Given the description of an element on the screen output the (x, y) to click on. 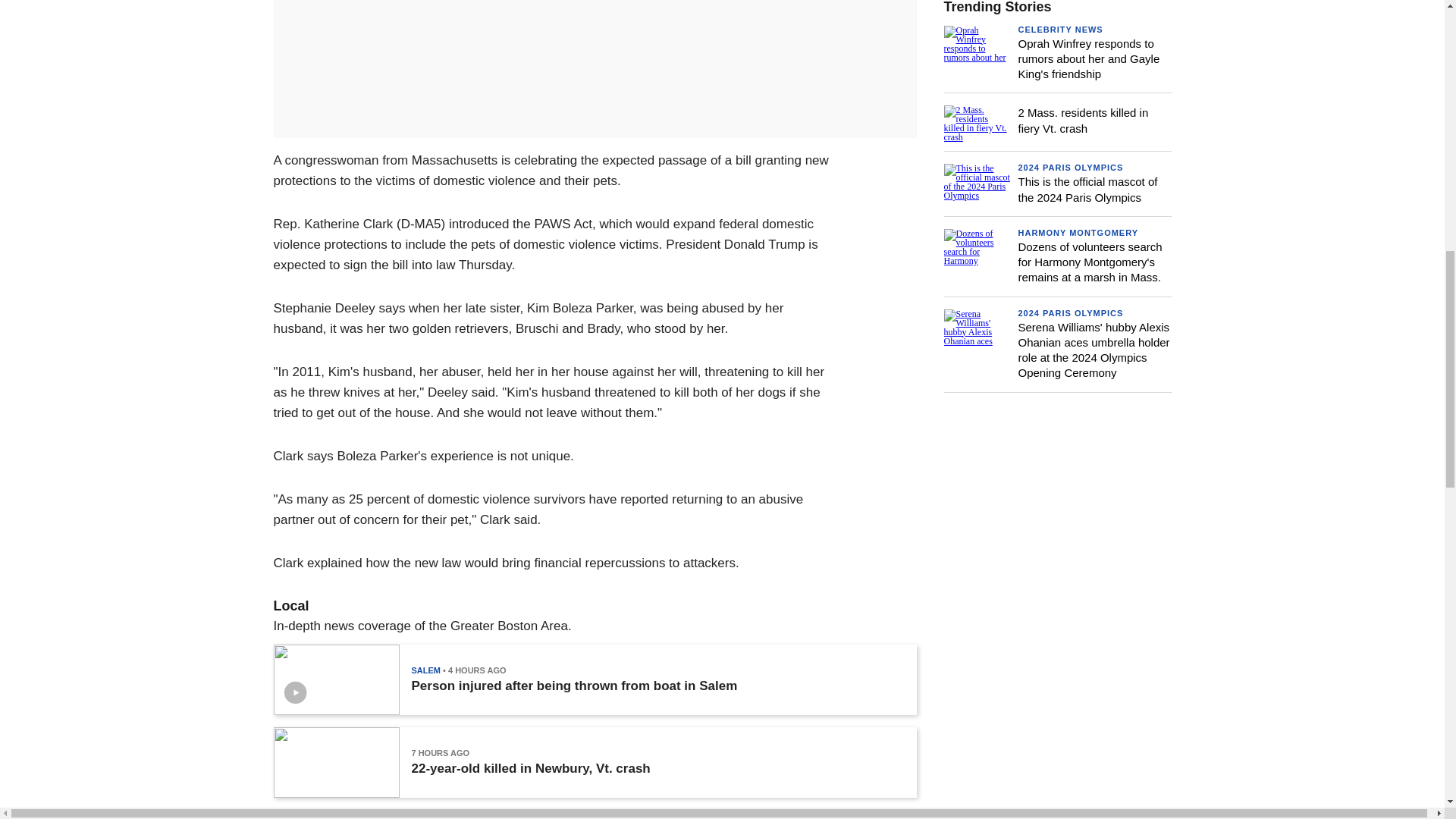
22-year-old killed in Newbury, Vt. crash (529, 768)
SALEM (425, 669)
Person injured after being thrown from boat in Salem (573, 685)
